Given the description of an element on the screen output the (x, y) to click on. 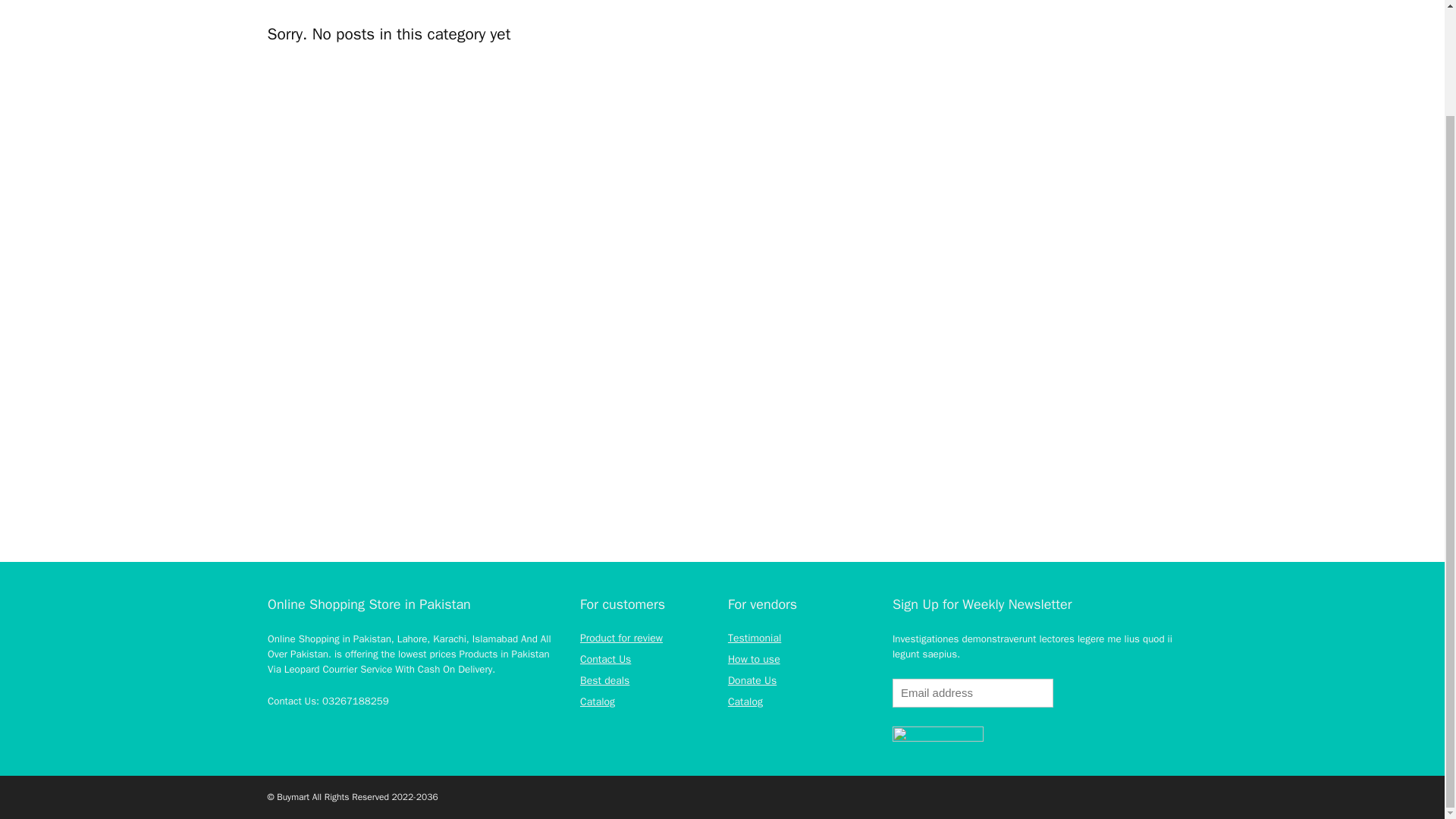
How to use (754, 658)
Catalog (596, 701)
Contact Us (604, 658)
Testimonial (754, 637)
Best deals (603, 680)
Product for review (620, 637)
Donate Us (752, 680)
